Given the description of an element on the screen output the (x, y) to click on. 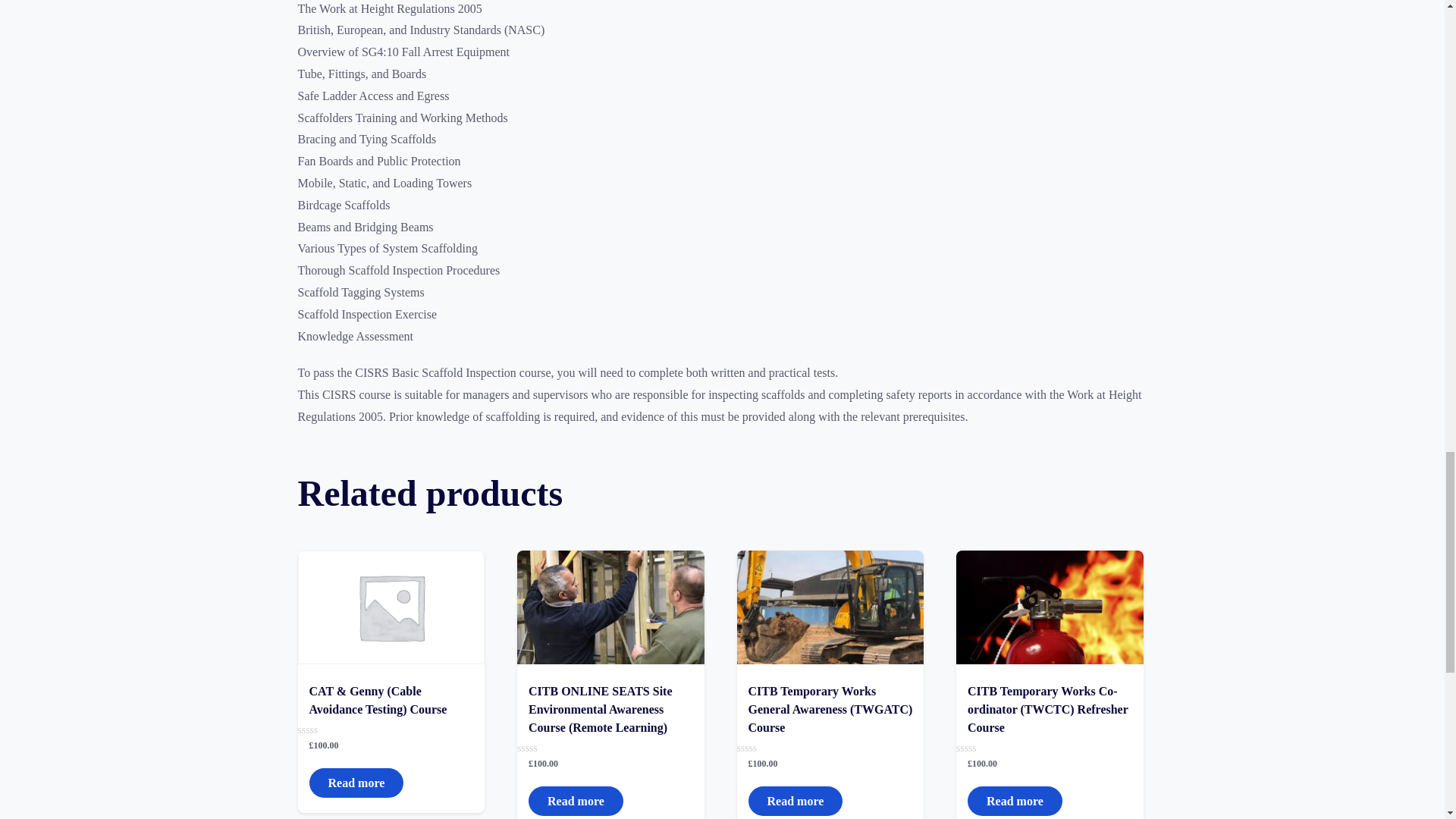
Read more (795, 800)
Read more (356, 782)
Read more (1015, 800)
Read more (575, 800)
